Given the description of an element on the screen output the (x, y) to click on. 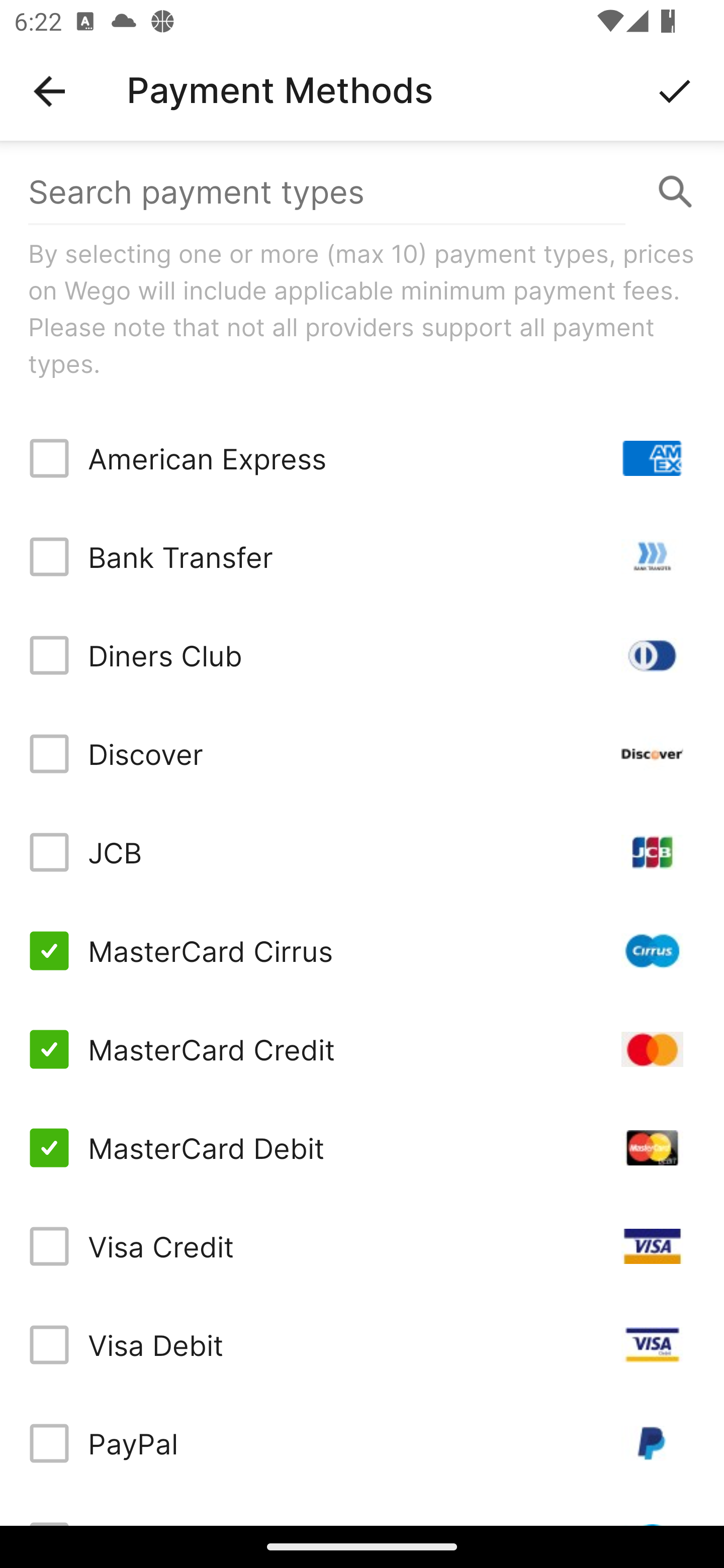
Search payment types  (361, 191)
American Express (362, 458)
Bank Transfer (362, 557)
Diners Club (362, 655)
Discover (362, 753)
JCB (362, 851)
MasterCard Cirrus (362, 950)
MasterCard Credit (362, 1049)
MasterCard Debit (362, 1147)
Visa Credit (362, 1245)
Visa Debit (362, 1344)
PayPal (362, 1442)
